Given the description of an element on the screen output the (x, y) to click on. 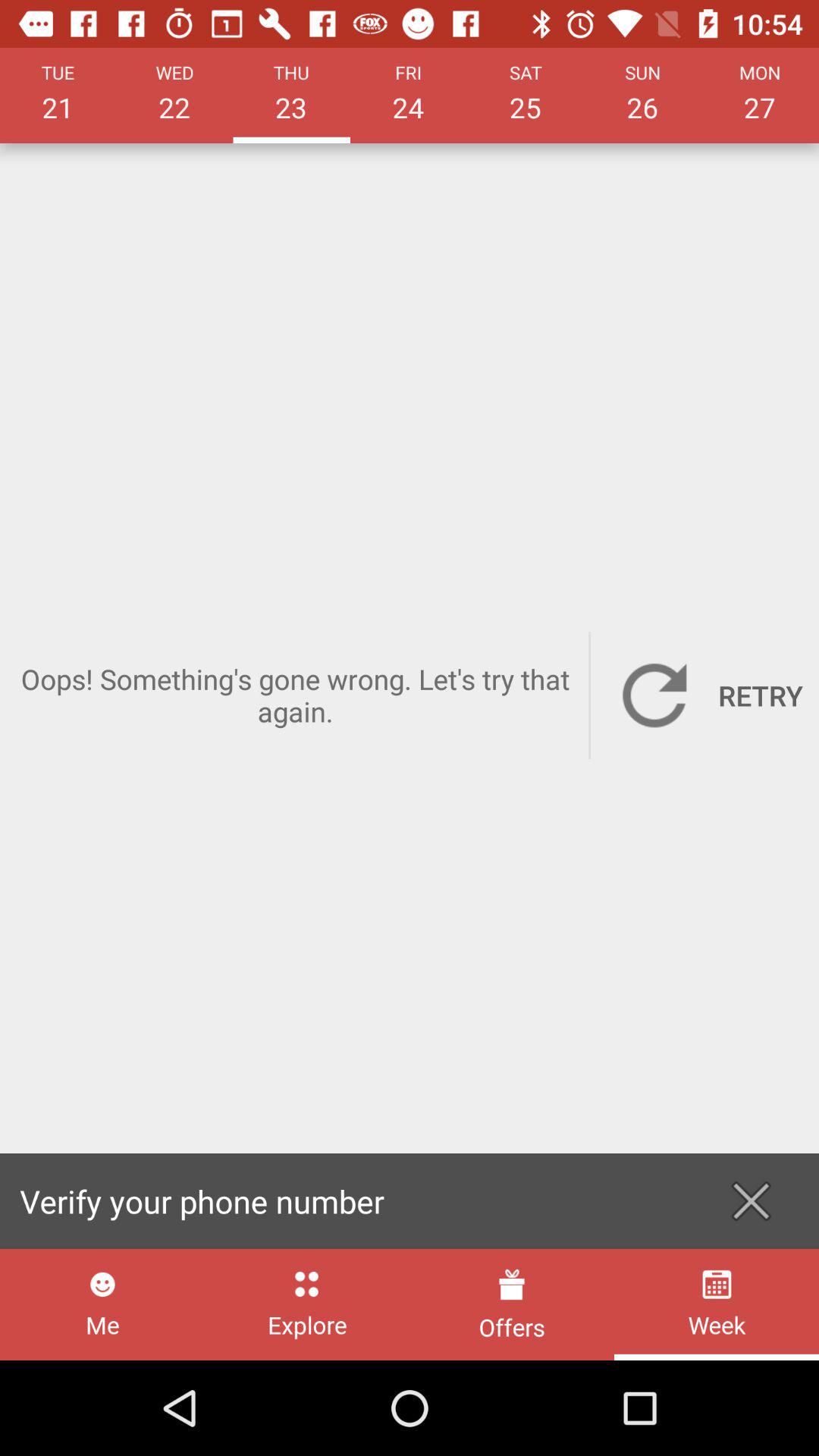
choose icon next to offers icon (306, 1304)
